Given the description of an element on the screen output the (x, y) to click on. 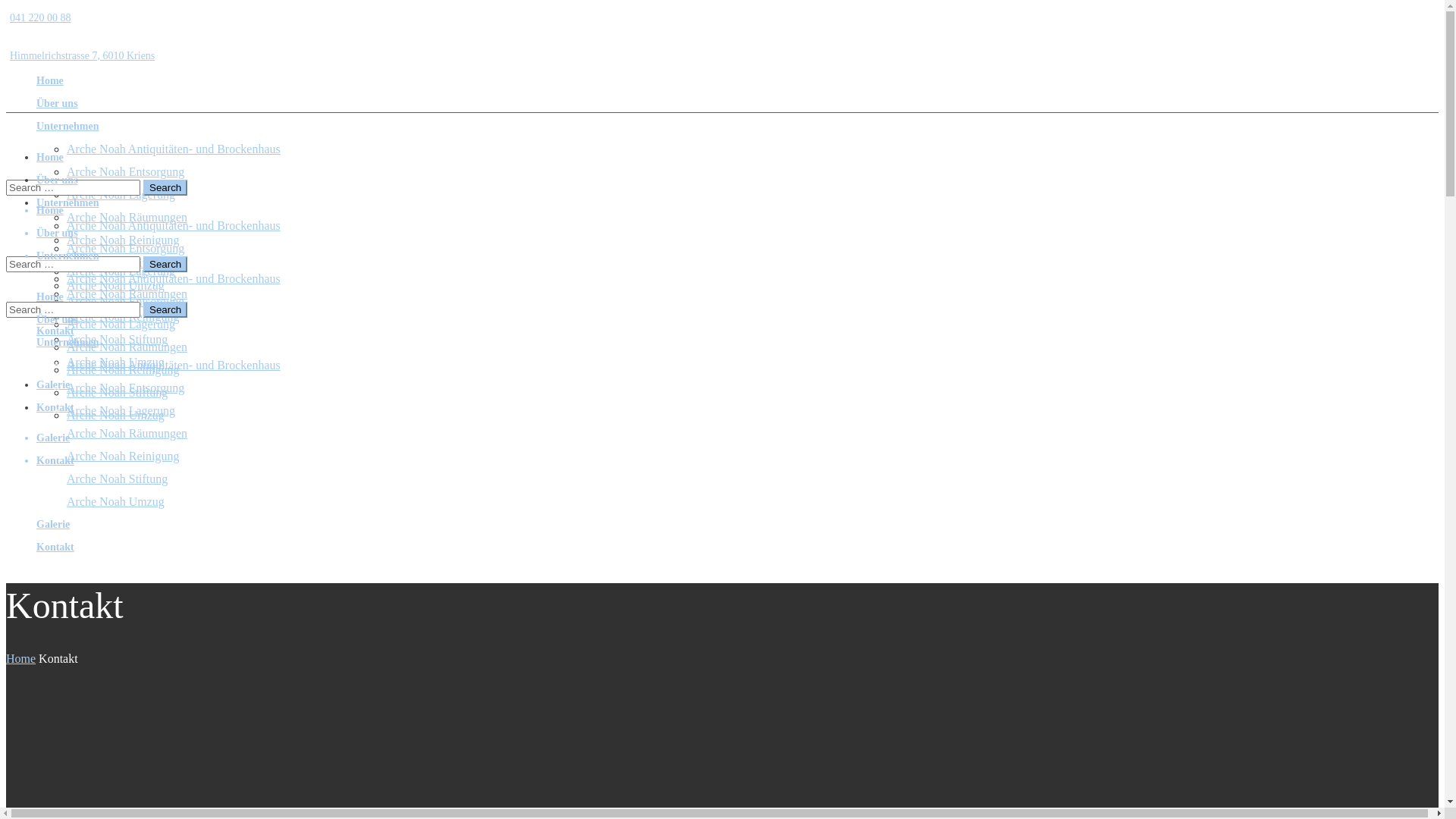
Kontakt Element type: text (55, 330)
041 220 00 88 Element type: text (38, 17)
Galerie Element type: text (52, 307)
Arche Noah Umzug Element type: text (115, 414)
Search Element type: text (165, 187)
Arche Noah Reinigung Element type: text (122, 316)
Arche Noah Stiftung Element type: text (116, 338)
Unternehmen Element type: text (67, 202)
Galerie Element type: text (52, 384)
Arche Noah Stiftung Element type: text (116, 391)
Unternehmen Element type: text (67, 255)
Search Element type: text (165, 264)
Home Element type: text (49, 210)
Galerie Element type: text (52, 524)
Arche Noah Reinigung Element type: text (122, 455)
Arche Noah Lagerung Element type: text (120, 323)
Arche Noah Entsorgung Element type: text (125, 171)
Kontakt Element type: text (55, 460)
Unternehmen Element type: text (67, 342)
Arche Noah Umzug Element type: text (115, 361)
Unternehmen Element type: text (67, 125)
Search Element type: text (165, 309)
Kontakt Element type: text (55, 546)
Arche Noah Lagerung Element type: text (120, 194)
Arche Noah Reinigung Element type: text (122, 369)
Arche Noah Entsorgung Element type: text (125, 247)
Arche Noah Umzug Element type: text (115, 285)
Arche Noah Reinigung Element type: text (122, 239)
Kontakt Element type: text (55, 407)
Home Element type: text (49, 296)
Galerie Element type: text (52, 437)
Arche Noah Entsorgung Element type: text (125, 300)
Home Element type: text (49, 157)
Arche Noah Lagerung Element type: text (120, 410)
Himmelrichstrasse 7, 6010 Kriens Element type: text (80, 55)
Arche Noah Umzug Element type: text (115, 501)
Home Element type: text (49, 80)
Arche Noah Entsorgung Element type: text (125, 387)
Arche Noah Stiftung Element type: text (116, 478)
Arche Noah Stiftung Element type: text (116, 262)
Arche Noah Lagerung Element type: text (120, 270)
Home Element type: text (20, 658)
